Given the description of an element on the screen output the (x, y) to click on. 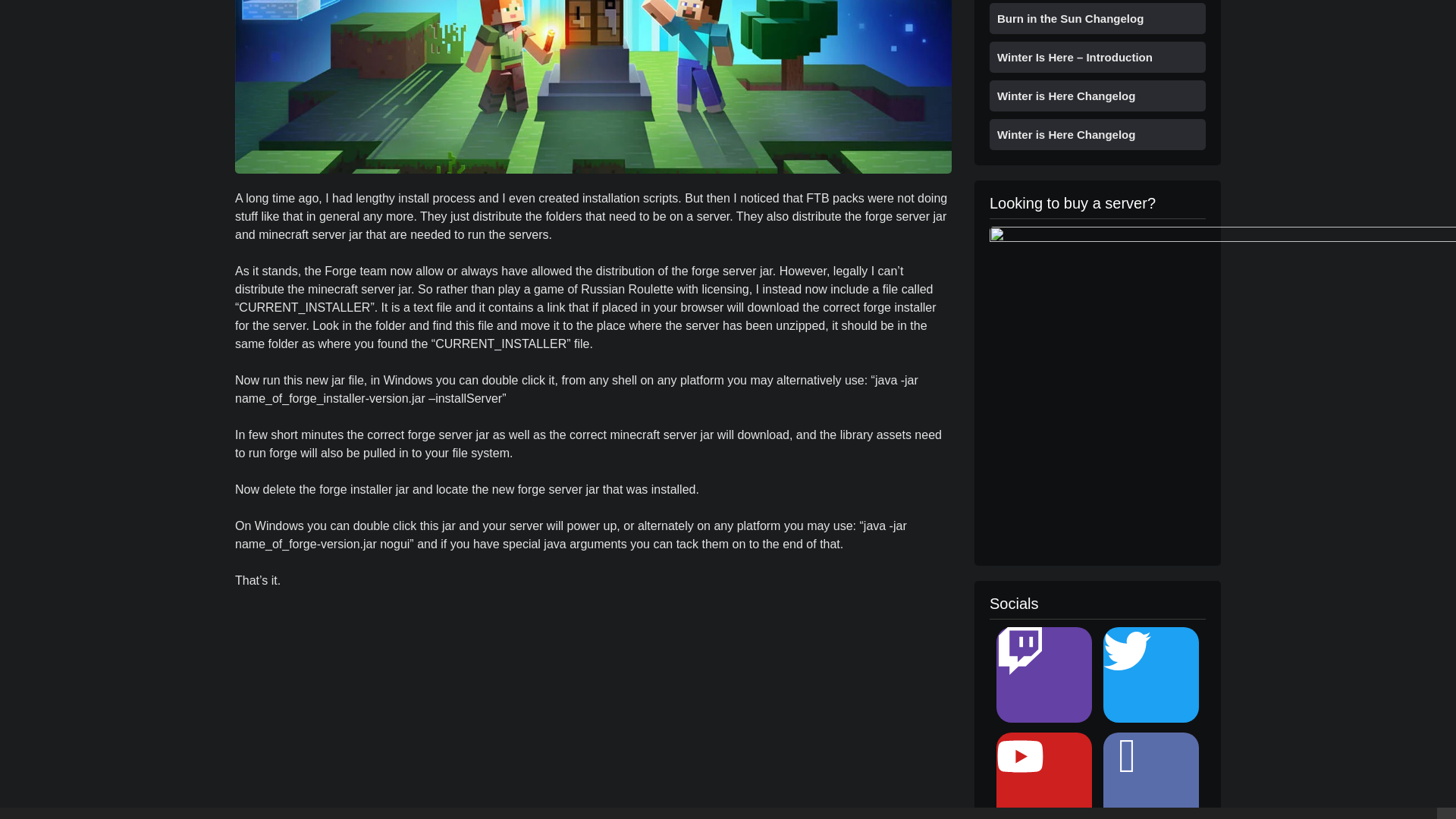
Winter is Here Changelog (1066, 133)
Burn in the Sun Changelog (1069, 18)
Winter is Here Changelog (1066, 95)
